Given the description of an element on the screen output the (x, y) to click on. 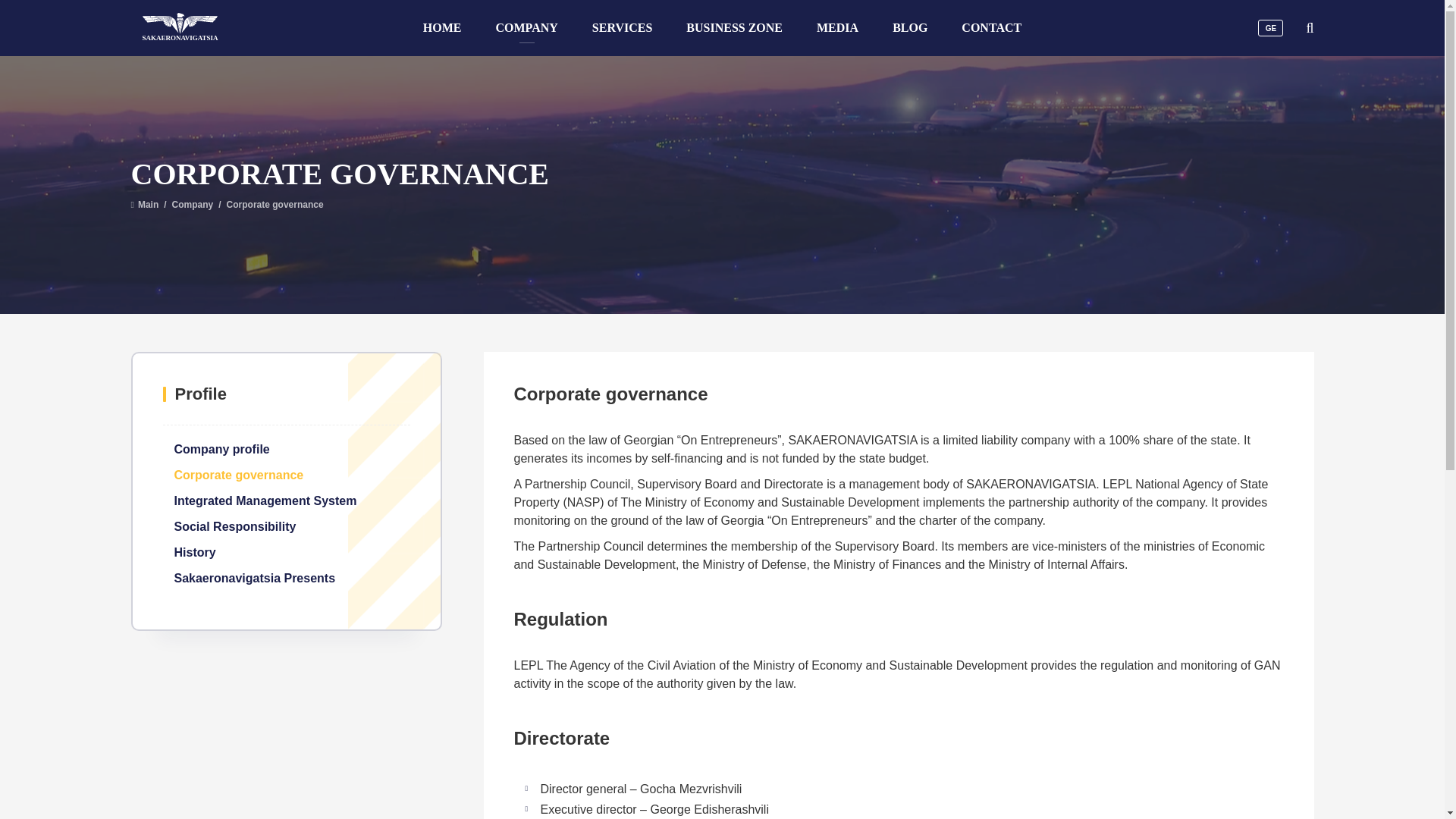
Main (144, 204)
GE (1269, 27)
Sakaeronavigatsia (179, 23)
